Given the description of an element on the screen output the (x, y) to click on. 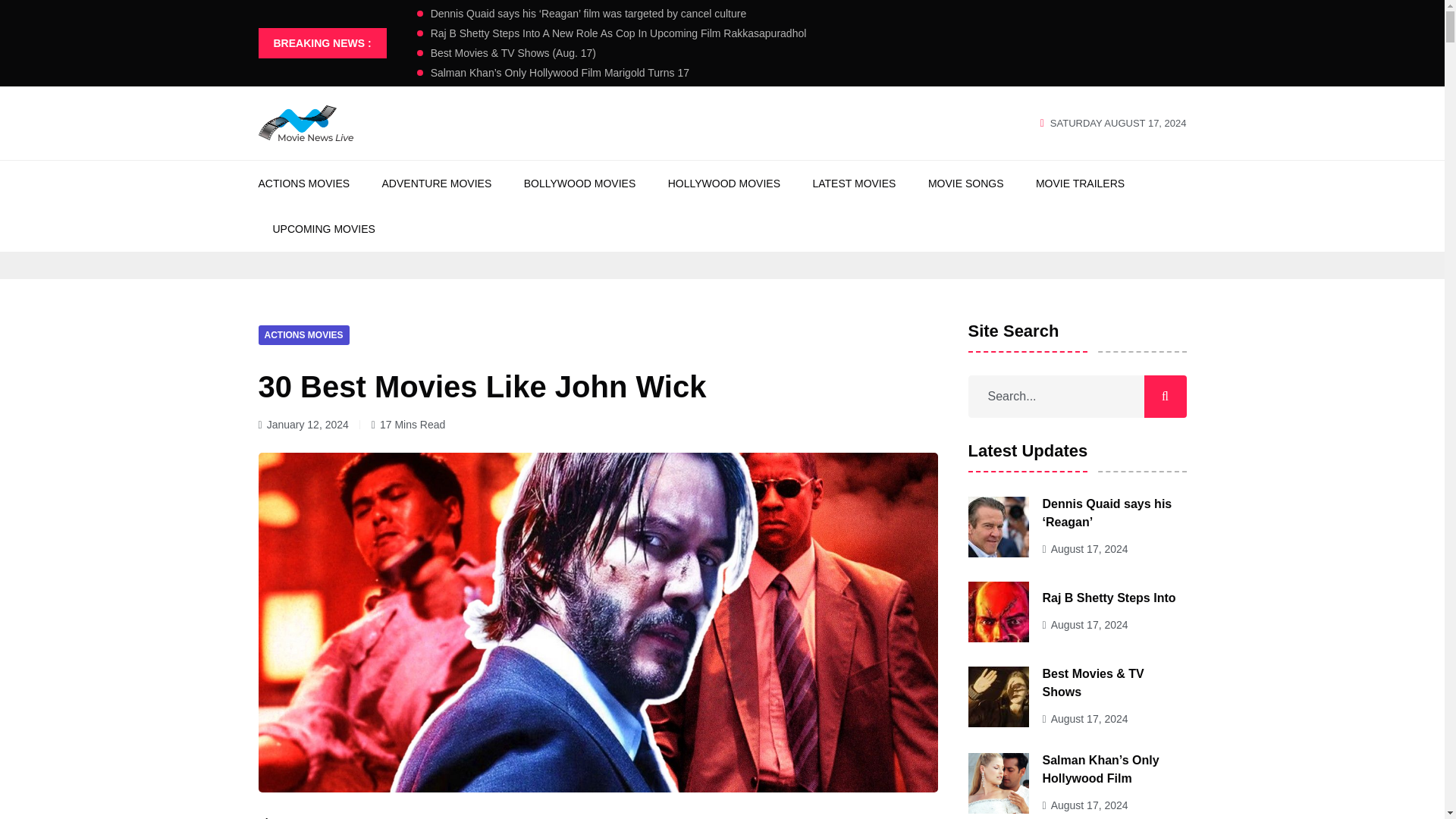
LATEST MOVIES (853, 183)
ACTIONS MOVIES (303, 333)
HOLLYWOOD MOVIES (724, 183)
UPCOMING MOVIES (324, 228)
BOLLYWOOD MOVIES (580, 183)
ACTIONS MOVIES (303, 183)
MOVIE TRAILERS (1079, 183)
ADVENTURE MOVIES (436, 183)
MOVIE SONGS (966, 183)
